Given the description of an element on the screen output the (x, y) to click on. 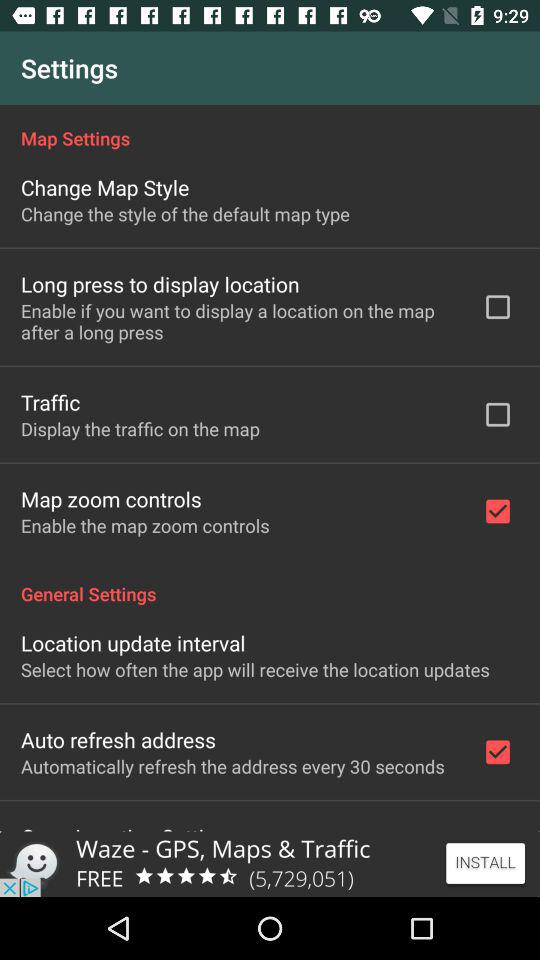
click the map settings app (270, 127)
